Given the description of an element on the screen output the (x, y) to click on. 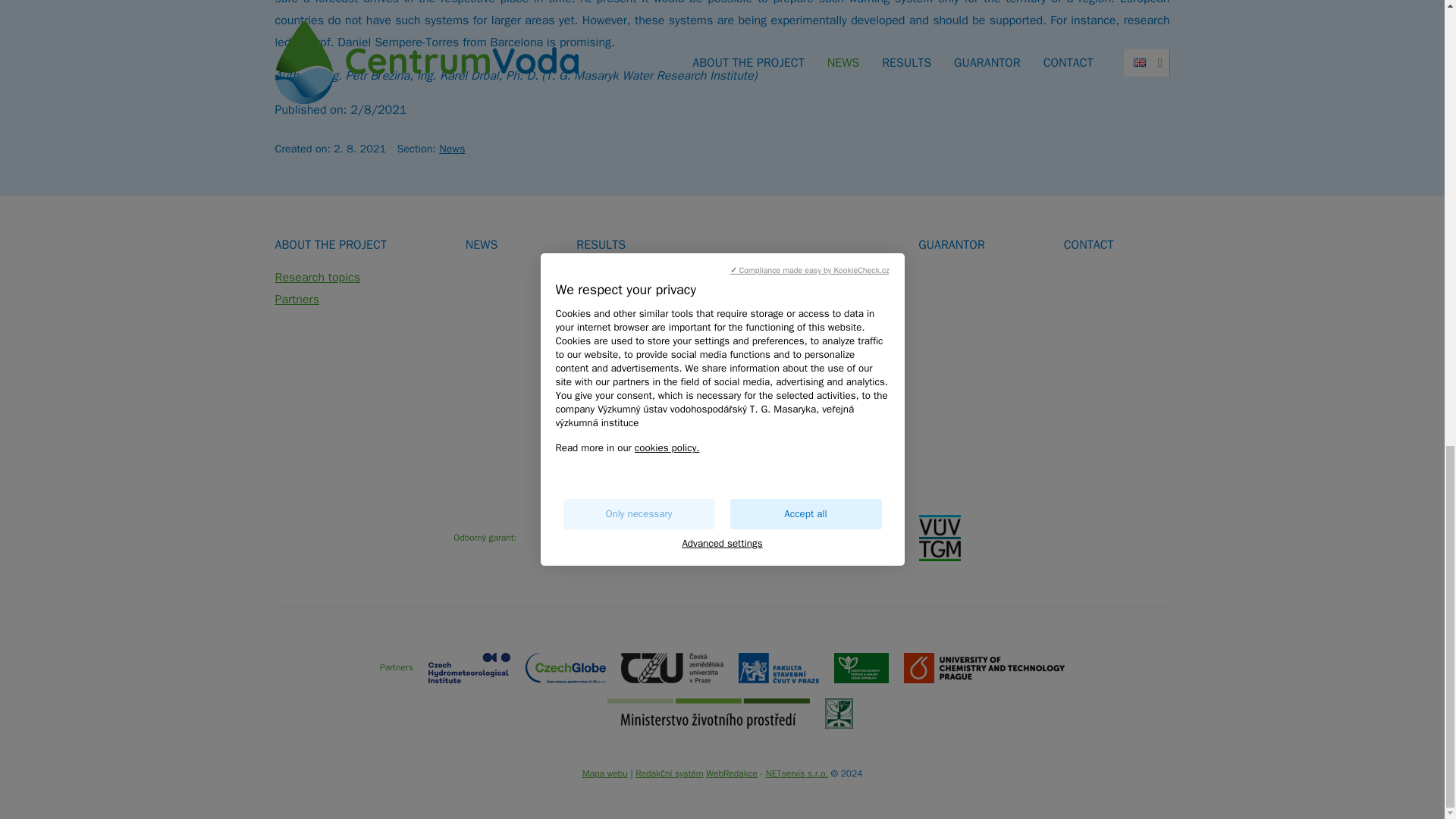
Czech Hydrometeorological Institute (469, 667)
